Given the description of an element on the screen output the (x, y) to click on. 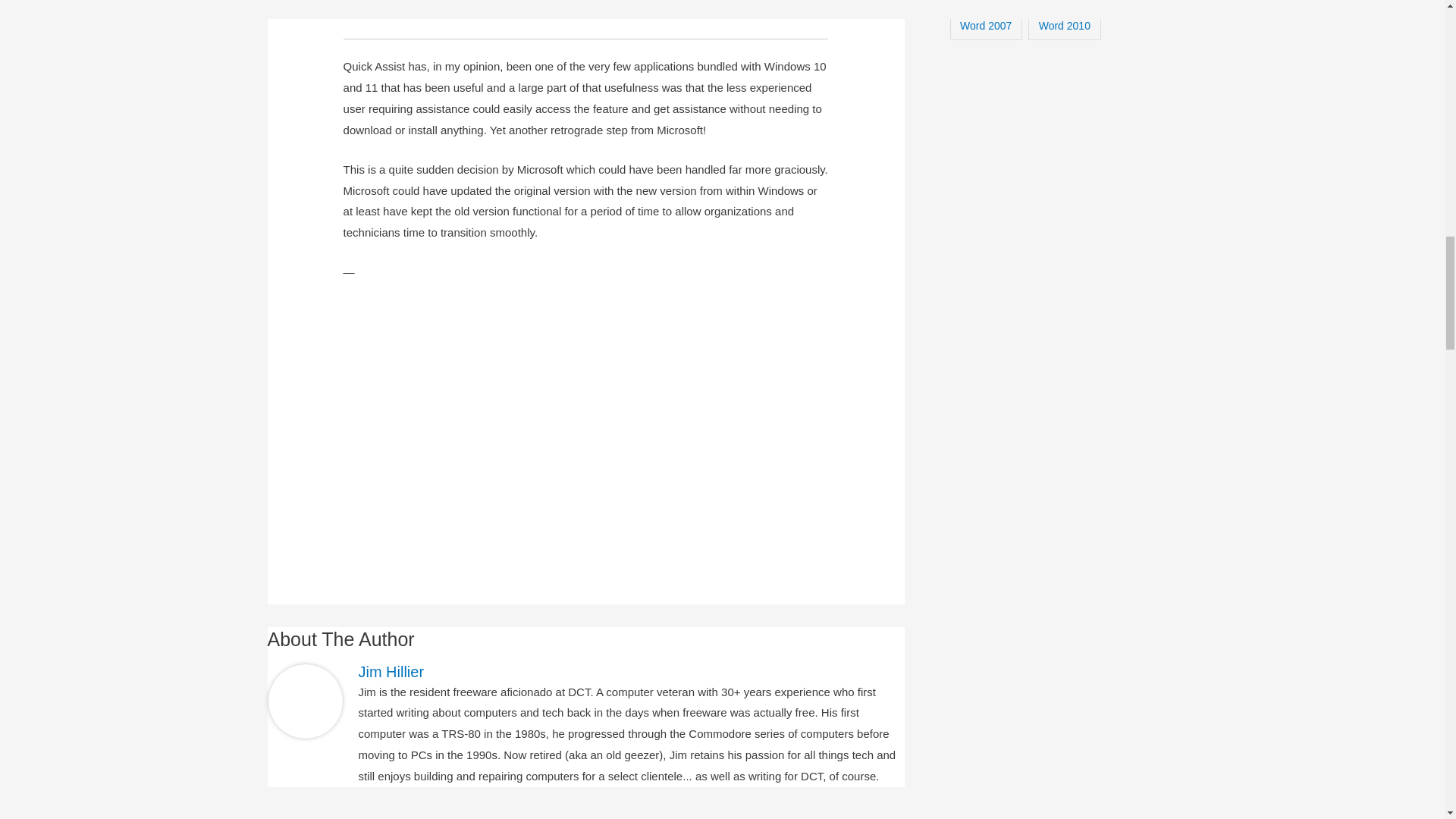
How To Print Sections, Notebooks In OneNote (870, 815)
3rd party ad content (585, 422)
Facebook: Temporarily Blocked Because You're Going Too Fast (310, 815)
